Given the description of an element on the screen output the (x, y) to click on. 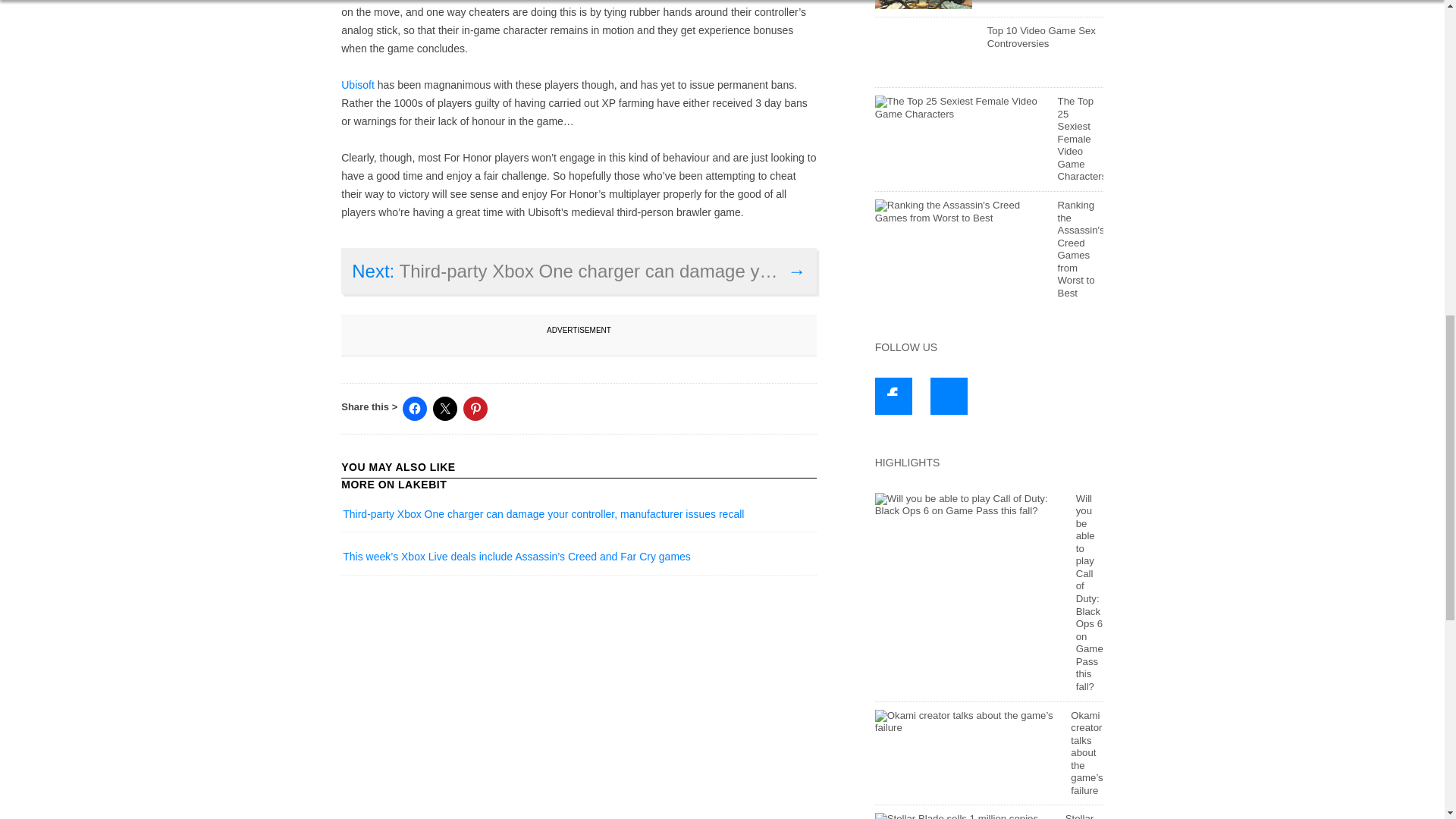
Ranking the Far Cry Games from Best to Worst (923, 4)
Top 10 Video Game Sex Controversies (1041, 37)
Top 10 Video Game Sex Controversies (1041, 37)
Ranking the Assassin's Creed Games from Worst to Best (1081, 248)
The Top 25 Sexiest Female Video Game Characters (958, 107)
The Top 25 Sexiest Female Video Game Characters (1082, 138)
The Top 25 Sexiest Female Video Game Characters (1082, 138)
Click to share on Facebook (414, 408)
Ubisoft (357, 84)
Click to share on Pinterest (475, 408)
Top 10 Video Game Sex Controversies (923, 52)
Ranking the Assassin's Creed Games from Worst to Best (958, 211)
Click to share on X (444, 408)
